Given the description of an element on the screen output the (x, y) to click on. 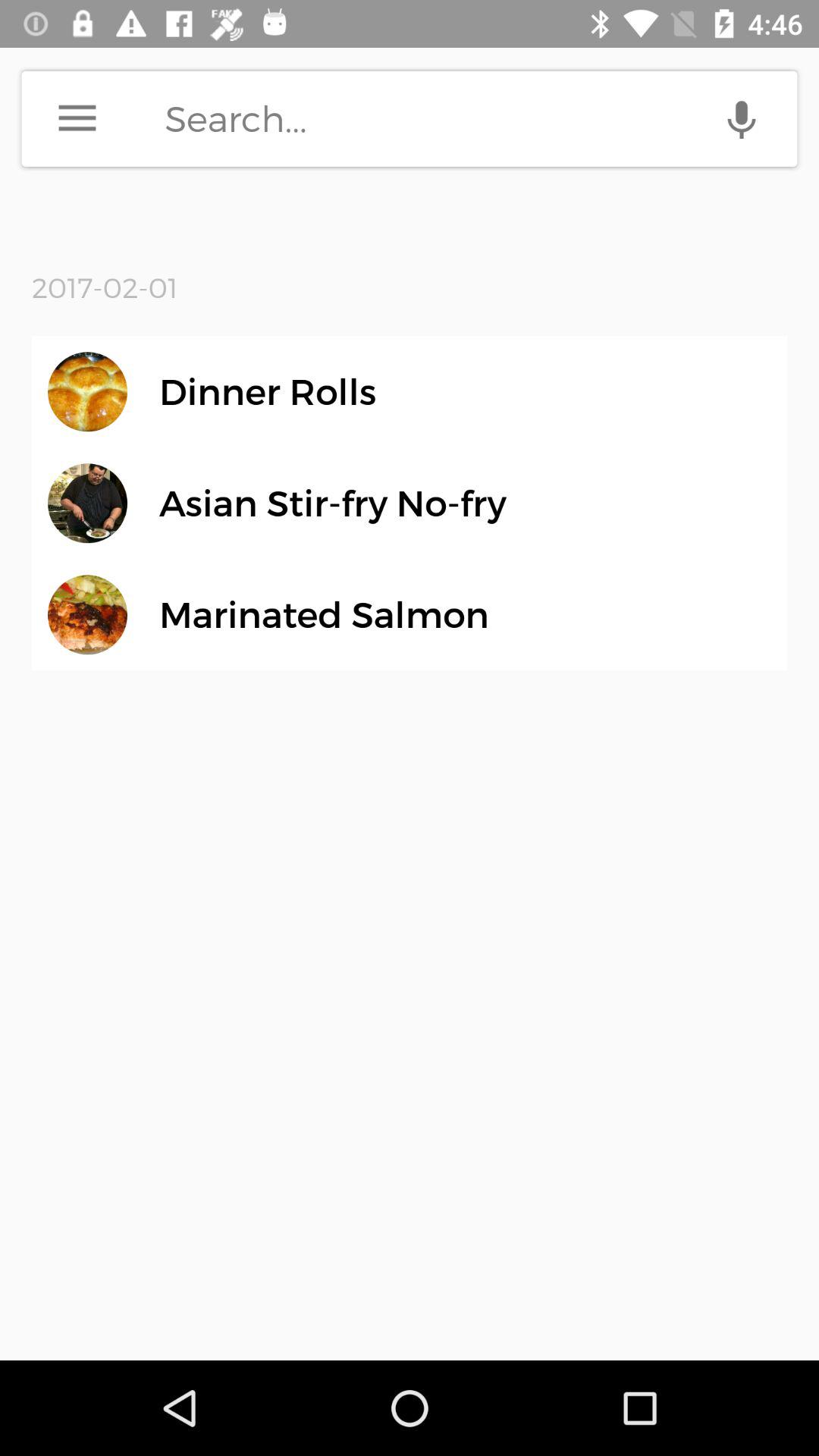
search bar (480, 118)
